Given the description of an element on the screen output the (x, y) to click on. 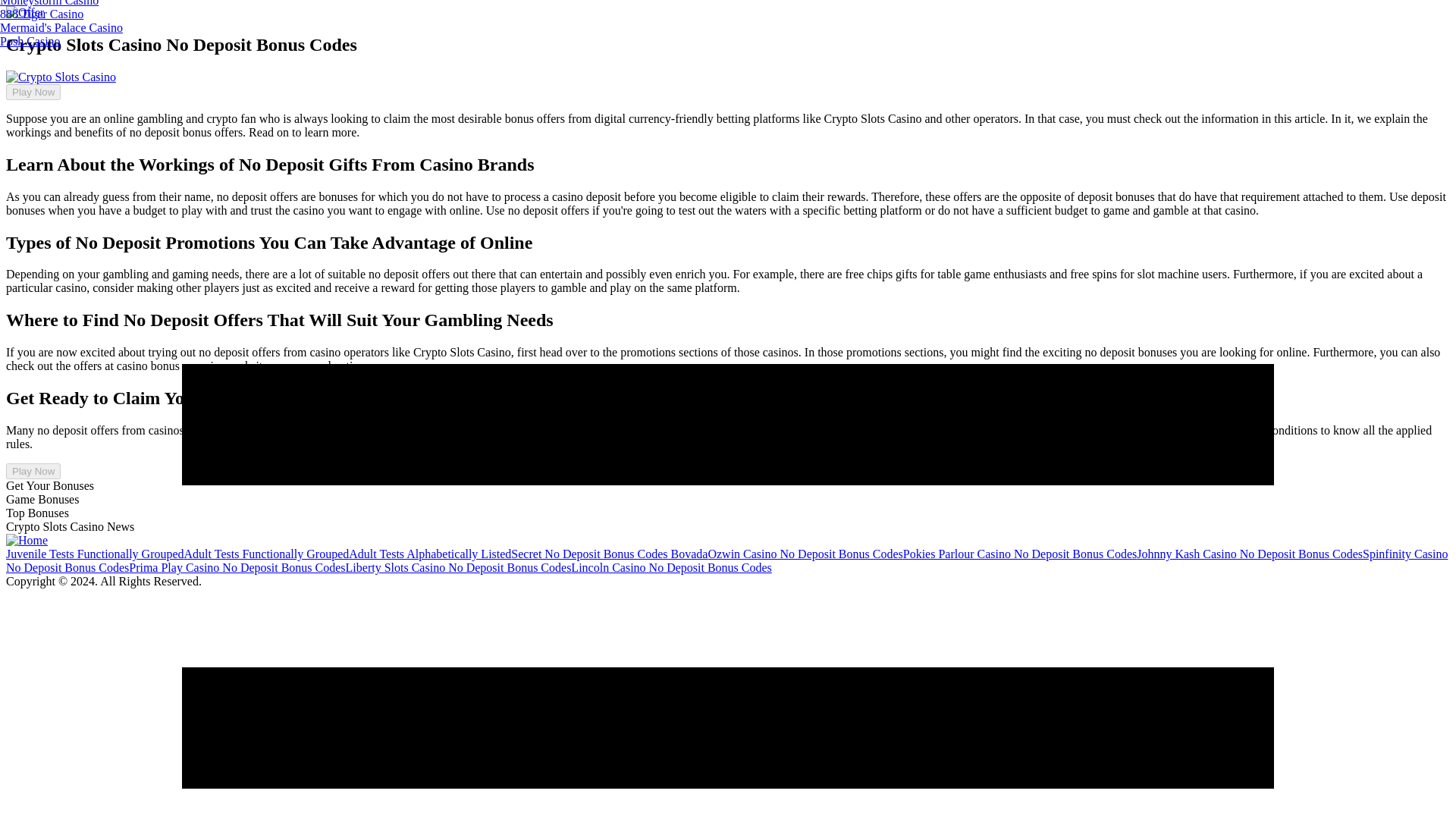
Ozwin Casino No Deposit Bonus Codes (804, 553)
Adult Tests Functionally Grouped (266, 553)
Secret No Deposit Bonus Codes Bovada (609, 553)
Liberty Slots Casino No Deposit Bonus Codes (459, 567)
Juvenile Tests Functionally Grouped (94, 553)
Pokies Parlour Casino No Deposit Bonus Codes (1019, 553)
Adult Tests Alphabetically Listed (430, 553)
Play Now (33, 91)
Prima Play Casino No Deposit Bonus Codes (237, 567)
Lincoln Casino No Deposit Bonus Codes (670, 567)
